Given the description of an element on the screen output the (x, y) to click on. 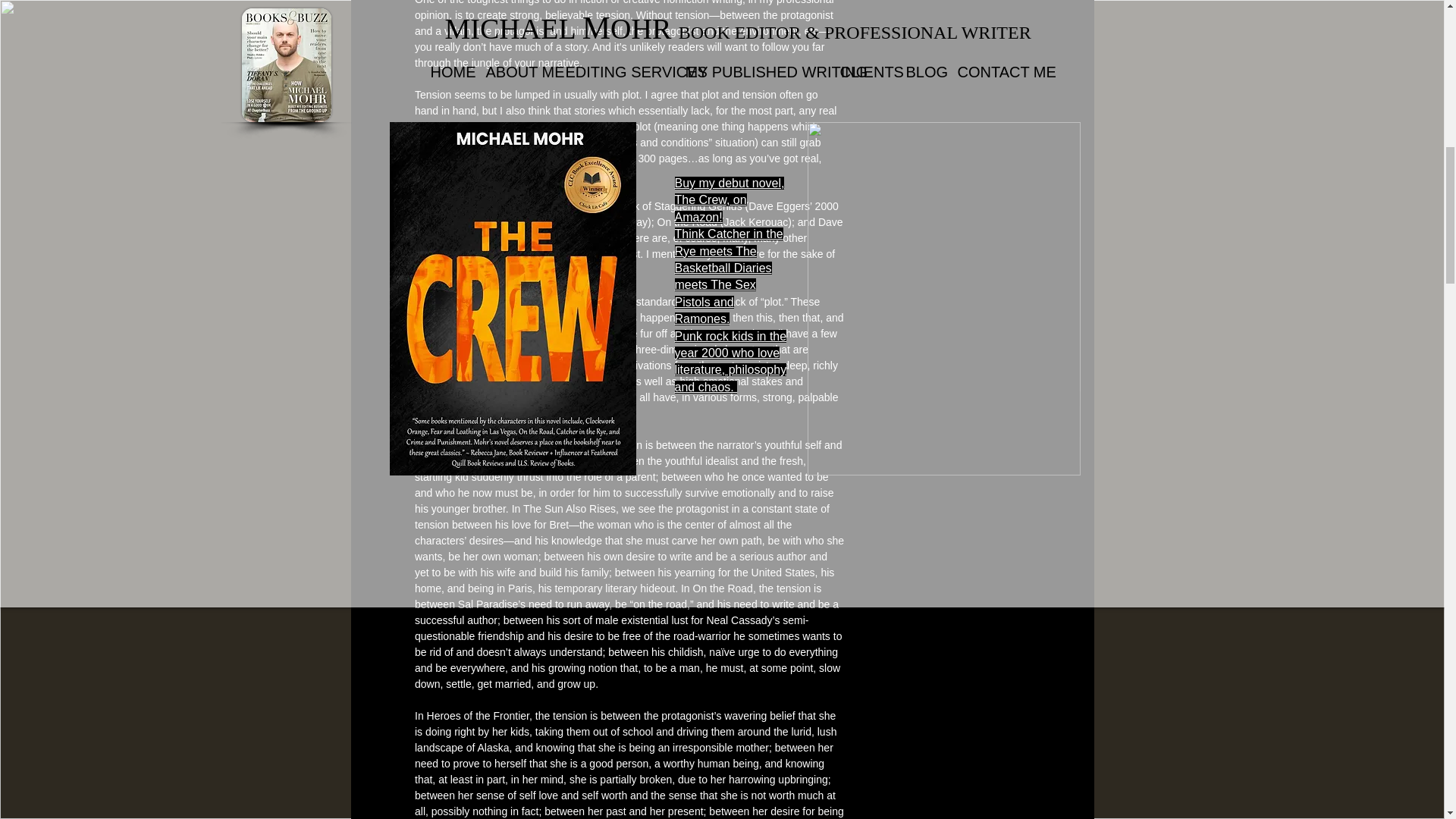
MEMOIR VS AUTOBIOGRAPHY (987, 32)
MEMOIR VS AUTOBIOGRAPHY (987, 32)
MEMOIR VS AUTOBIOGRAPHY (987, 1)
